Given the description of an element on the screen output the (x, y) to click on. 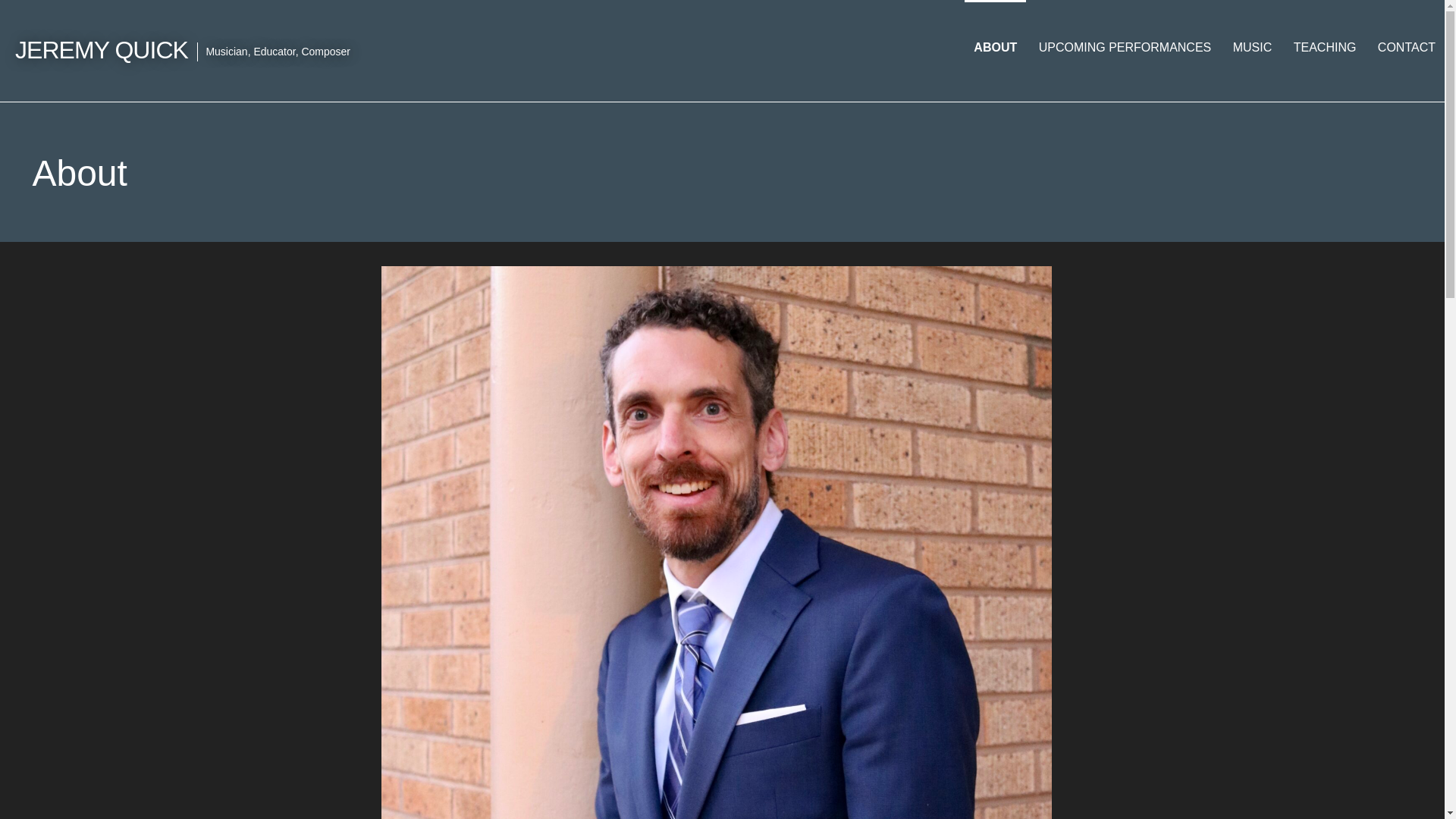
UPCOMING PERFORMANCES (1125, 47)
MUSIC (1252, 47)
TEACHING (1324, 47)
ABOUT (994, 47)
JEREMY QUICK (100, 49)
